Given the description of an element on the screen output the (x, y) to click on. 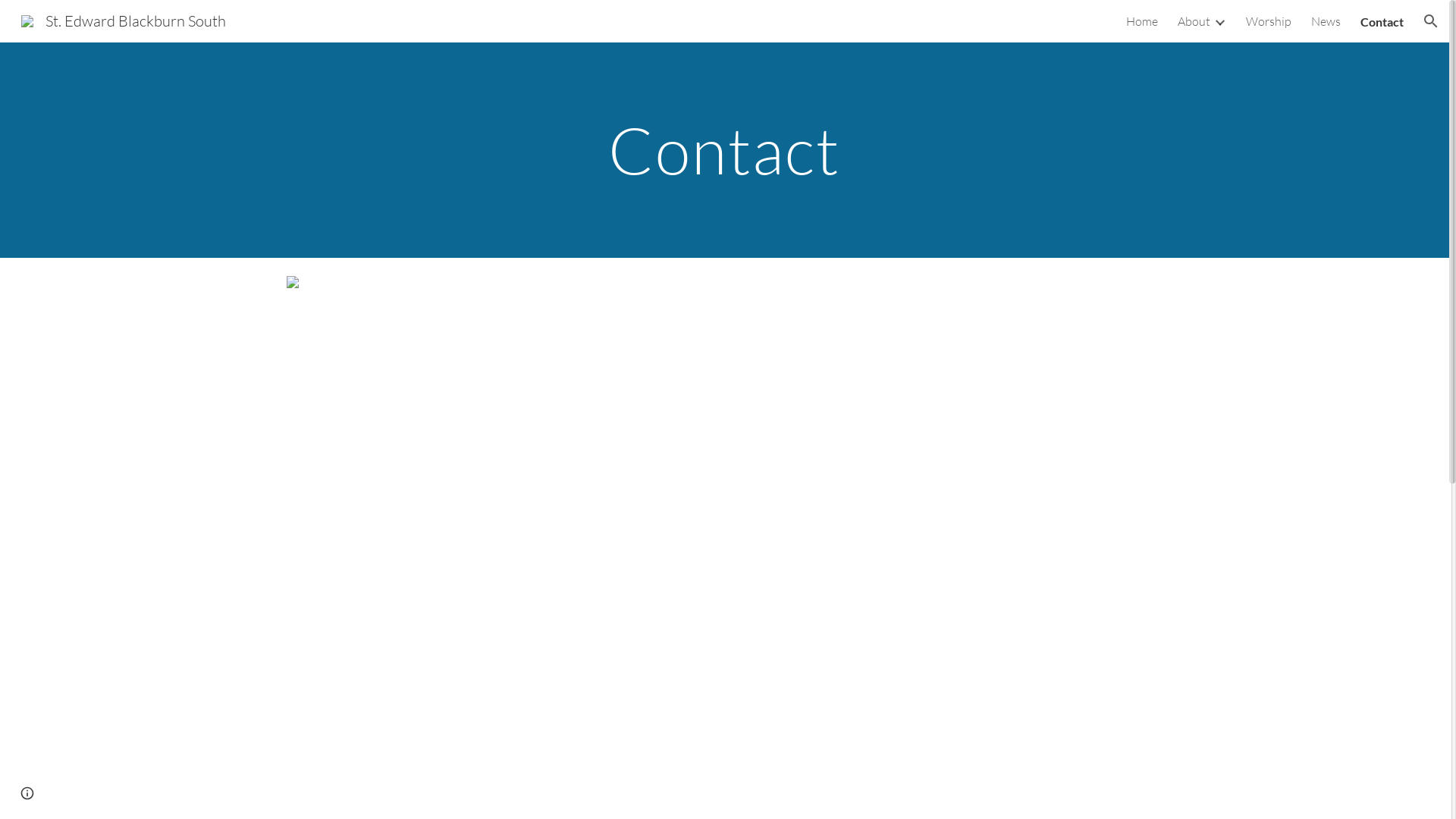
About Element type: text (1193, 20)
Expand/Collapse Element type: hover (1219, 20)
St. Edward Blackburn South Element type: text (123, 18)
Home Element type: text (1141, 20)
Contact Element type: text (1381, 20)
News Element type: text (1325, 20)
Worship Element type: text (1268, 20)
